Given the description of an element on the screen output the (x, y) to click on. 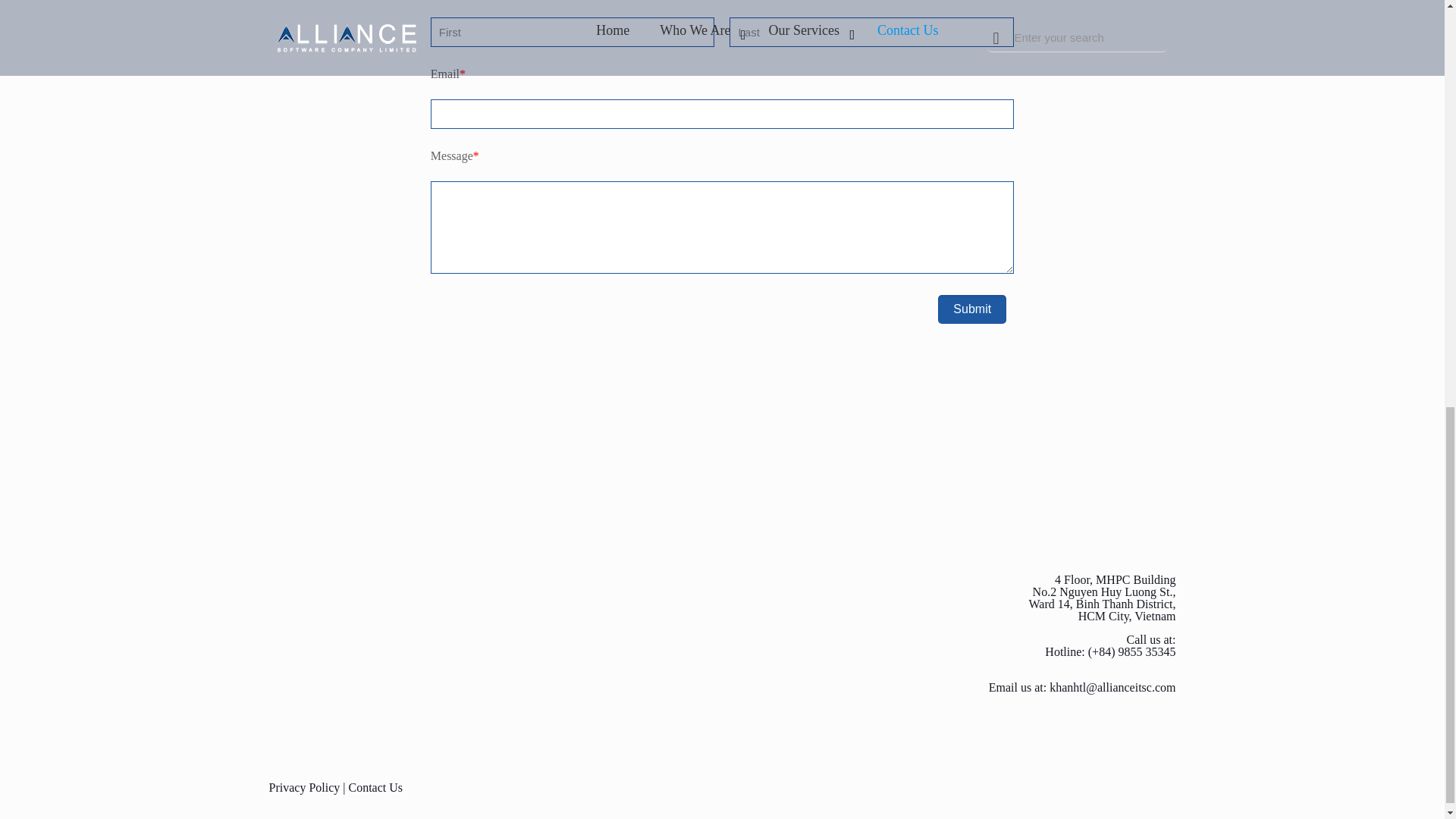
Submit (971, 308)
Facebook (1155, 787)
